Given the description of an element on the screen output the (x, y) to click on. 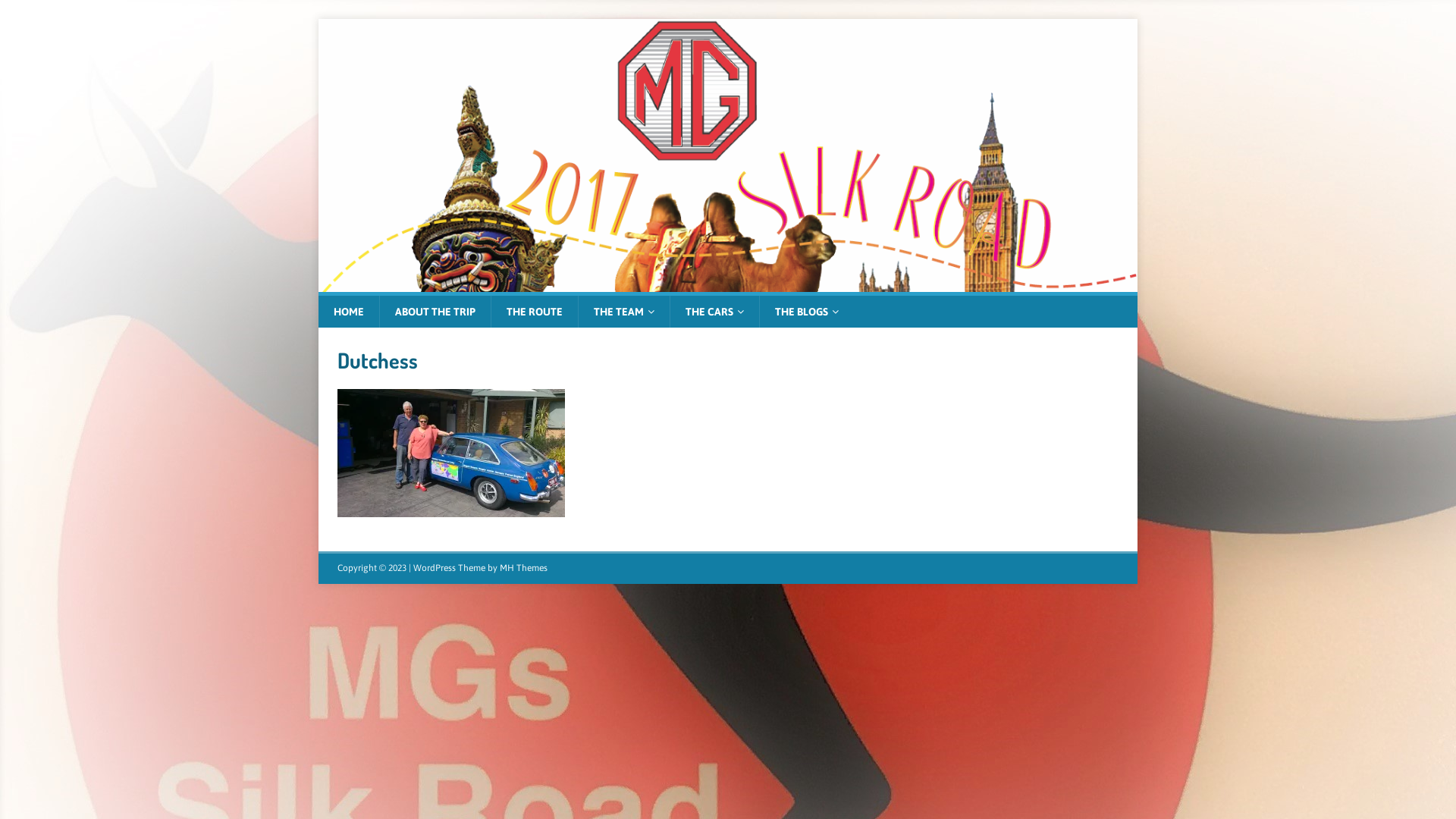
THE BLOGS Element type: text (806, 311)
HOME Element type: text (348, 311)
MG's On The Silk Road Element type: hover (727, 282)
THE CARS Element type: text (714, 311)
THE TEAM Element type: text (623, 311)
ABOUT THE TRIP Element type: text (434, 311)
MH Themes Element type: text (523, 567)
THE ROUTE Element type: text (533, 311)
